Given the description of an element on the screen output the (x, y) to click on. 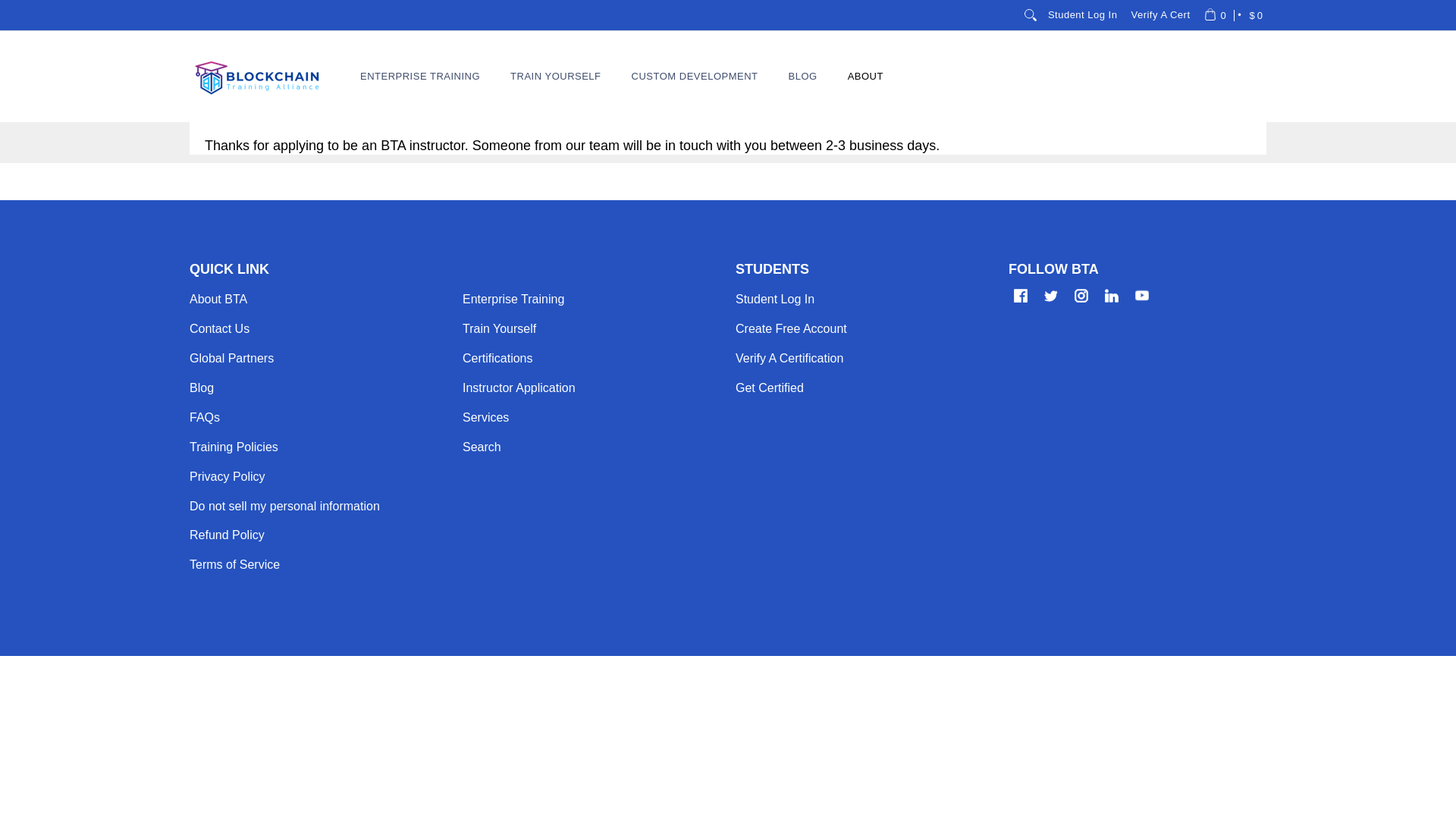
Services (485, 417)
Certifications (497, 358)
Verify A Cert (1160, 15)
Privacy Policy (226, 476)
Contact Us (218, 328)
Student Log In (1082, 15)
Train Yourself (499, 328)
Training Policies (233, 446)
TRAIN YOURSELF (555, 76)
Enterprise Training (513, 298)
Do not sell my personal information (284, 504)
Terms of Service (234, 563)
Custom Development (694, 76)
ENTERPRISE TRAINING (419, 76)
Enterprise Training (419, 76)
